Given the description of an element on the screen output the (x, y) to click on. 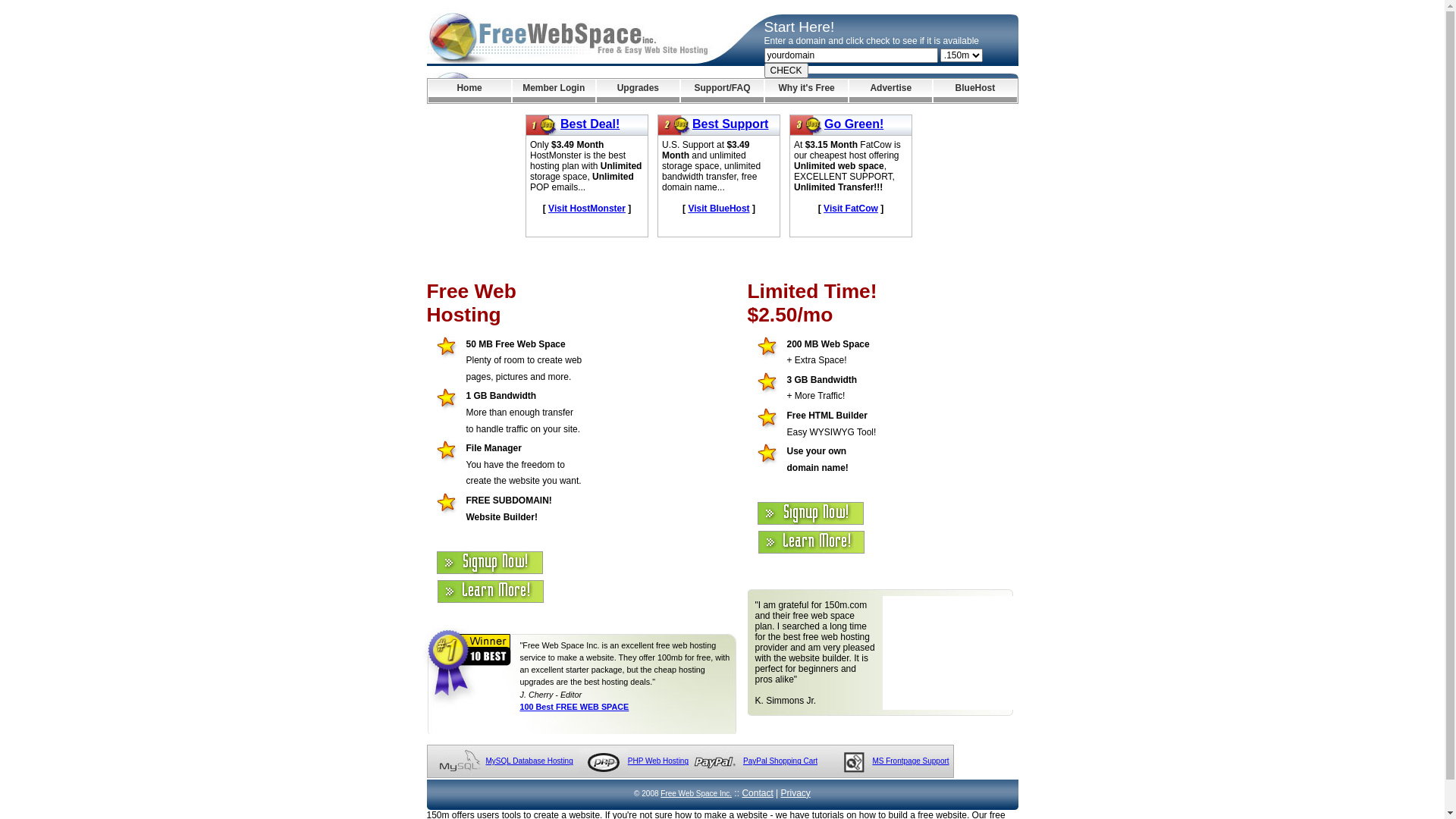
PHP Web Hosting Element type: text (657, 760)
MySQL Database Hosting Element type: text (528, 760)
Advertise Element type: text (890, 90)
MS Frontpage Support Element type: text (910, 760)
Why it's Free Element type: text (806, 90)
Privacy Element type: text (795, 792)
Upgrades Element type: text (637, 90)
Free Web Space Inc. Element type: text (695, 793)
100 Best FREE WEB SPACE Element type: text (574, 706)
Support/FAQ Element type: text (721, 90)
PayPal Shopping Cart Element type: text (780, 760)
Home Element type: text (468, 90)
Member Login Element type: text (553, 90)
BlueHost Element type: text (974, 90)
Contact Element type: text (756, 792)
CHECK Element type: text (786, 70)
